Given the description of an element on the screen output the (x, y) to click on. 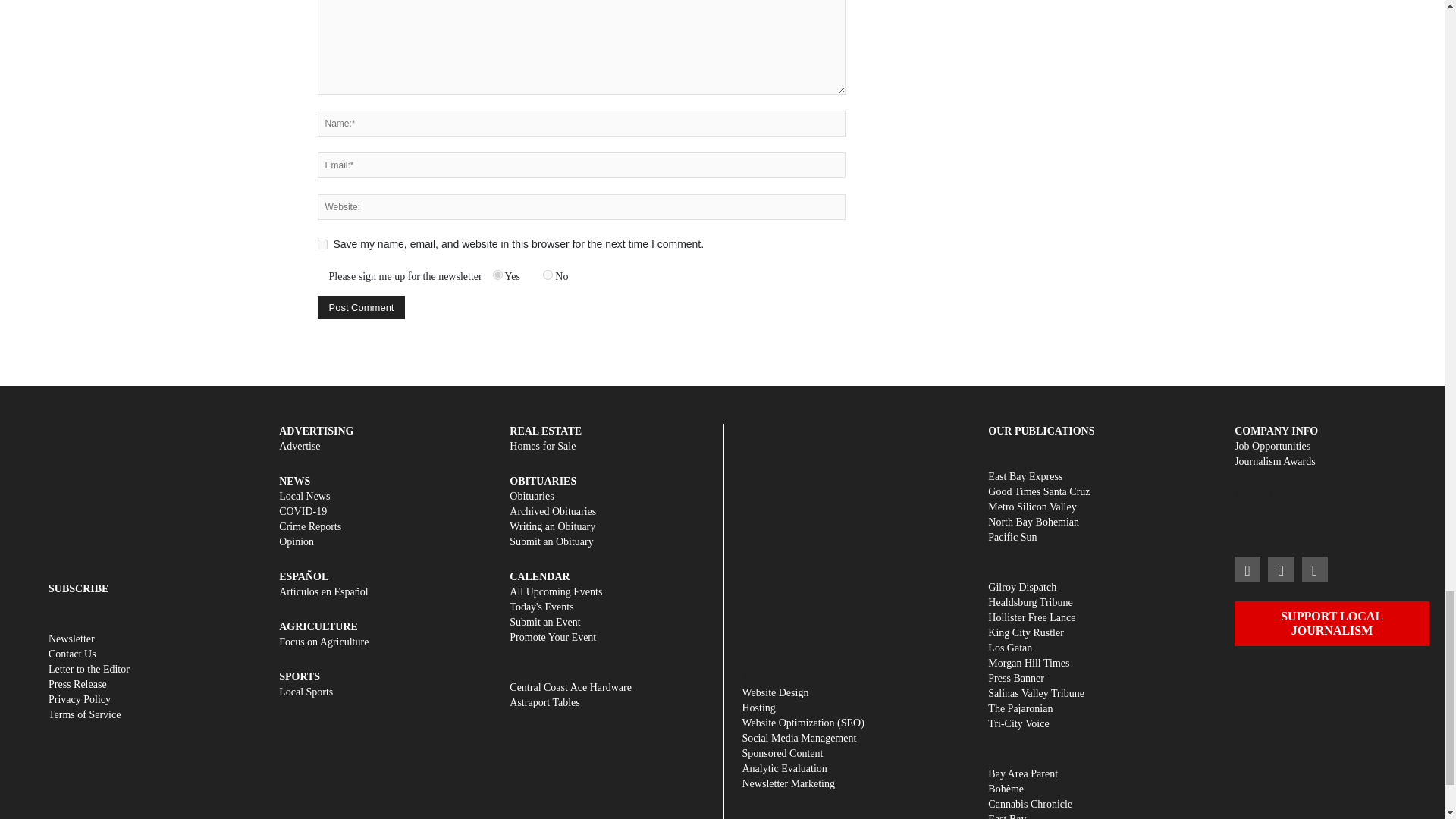
No (548, 275)
Yes (497, 275)
Post Comment (360, 307)
yes (321, 244)
